Given the description of an element on the screen output the (x, y) to click on. 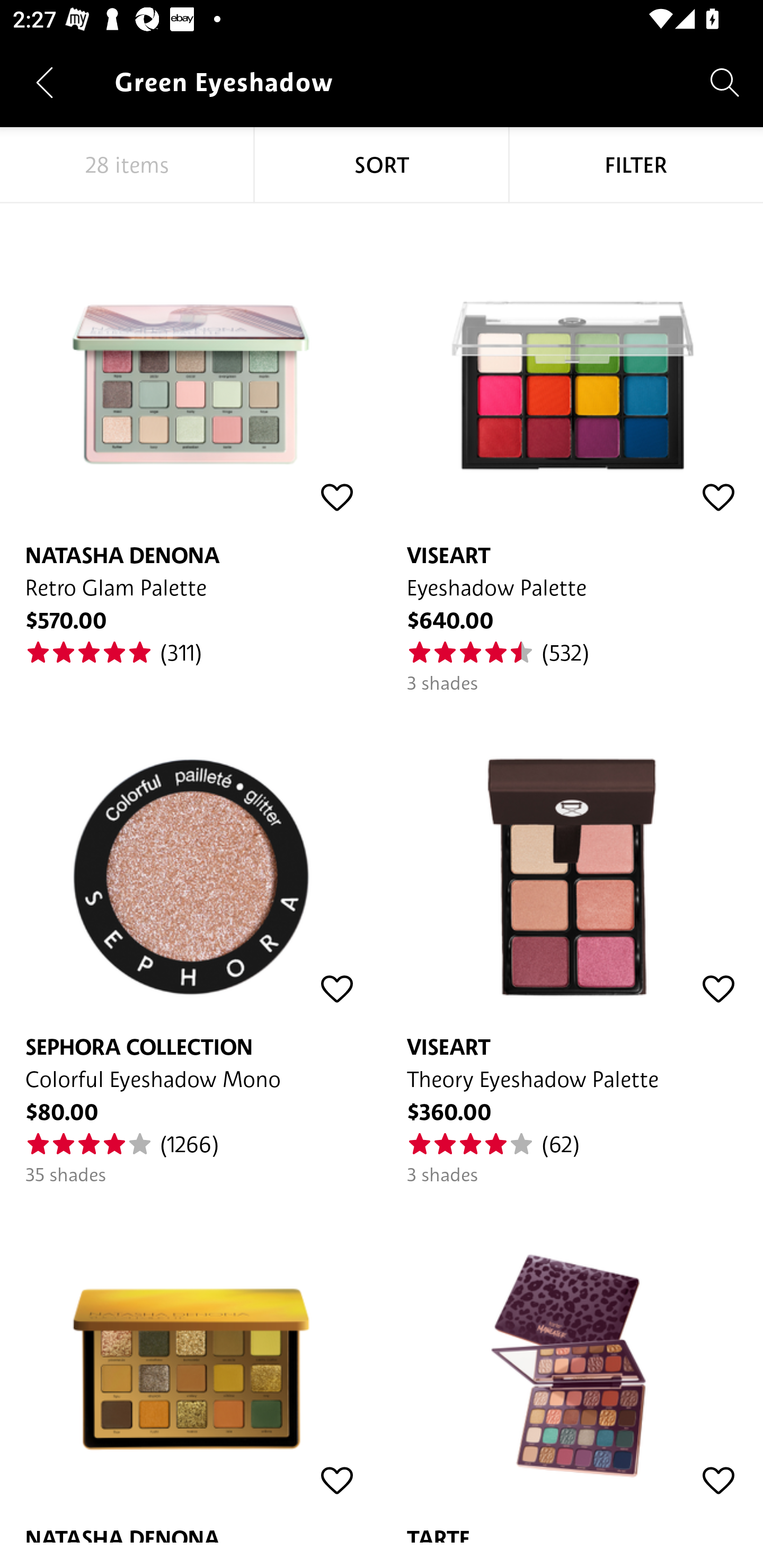
Navigate up (44, 82)
Search (724, 81)
SORT (381, 165)
FILTER (636, 165)
NATASHA DENONA Retro Glam Palette $570.00 (311) (190, 434)
VISEART Eyeshadow Palette $640.00 (532) 3 shades (571, 448)
NATASHA DENONA Yucca Eyeshadow Palette (190, 1364)
TARTE Maneater™ Nightfall Eyeshadow Palette (571, 1364)
